Given the description of an element on the screen output the (x, y) to click on. 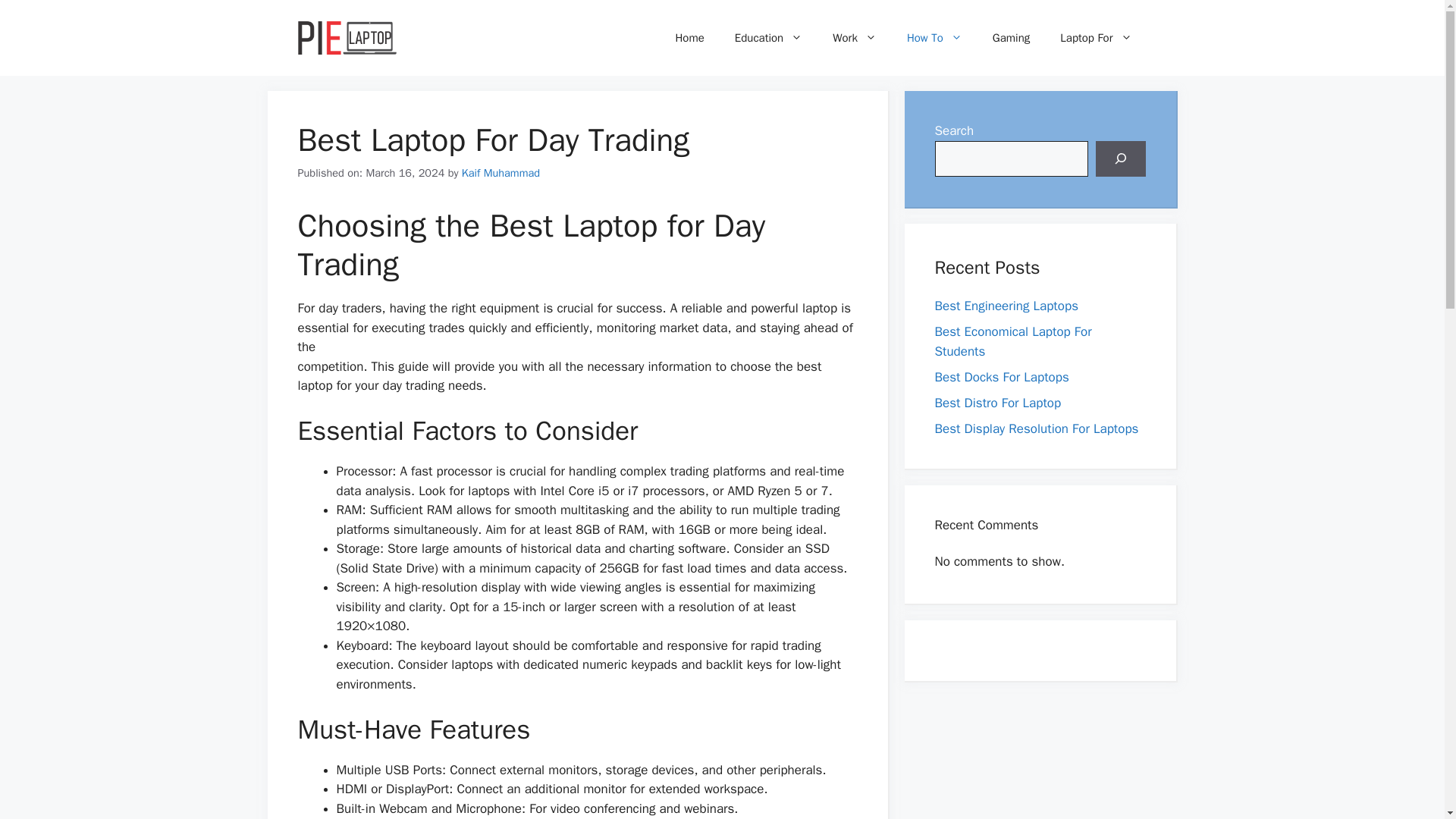
Best Docks For Laptops (1001, 376)
How To (933, 37)
Best Distro For Laptop (997, 401)
Home (689, 37)
Kaif Muhammad (500, 172)
Gaming (1010, 37)
Education (767, 37)
Best Economical Laptop For Students (1012, 341)
Best Display Resolution For Laptops (1036, 427)
Work (853, 37)
